Given the description of an element on the screen output the (x, y) to click on. 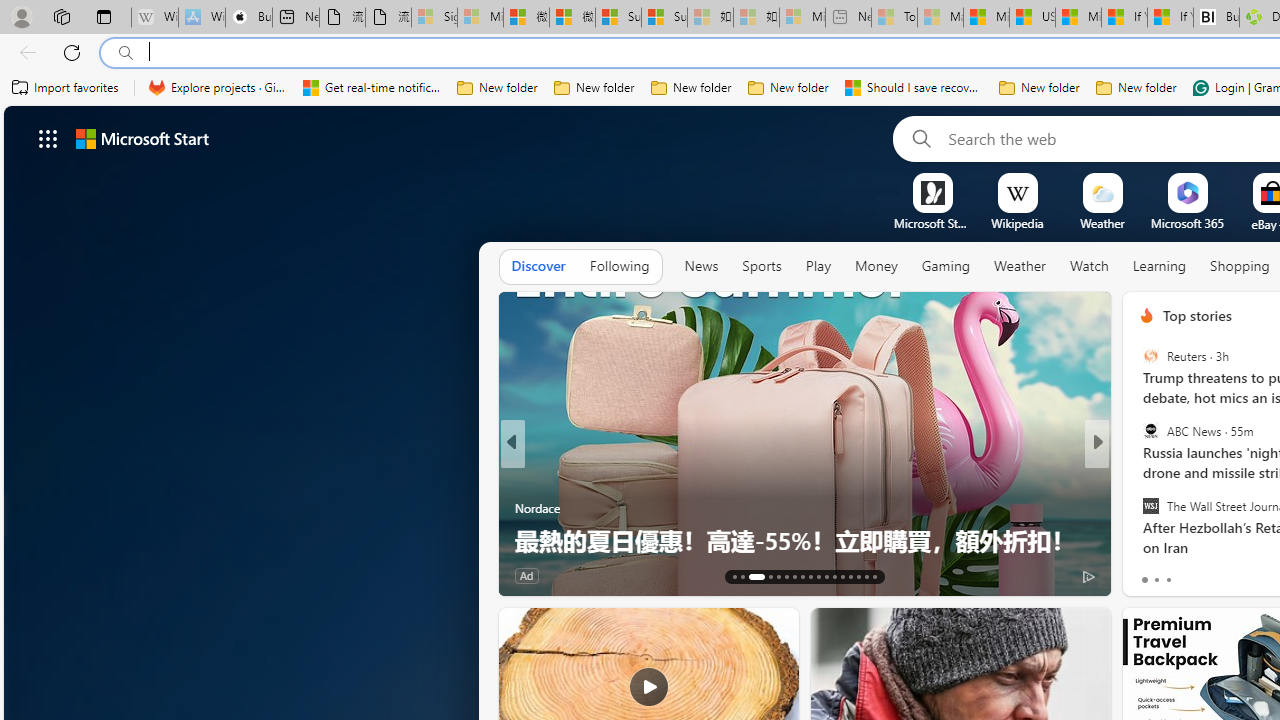
AutomationID: tab-14 (742, 576)
View comments 2 Comment (1229, 575)
Should I save recovered Word documents? - Microsoft Support (913, 88)
Food Republic (1138, 475)
Learning (1159, 265)
Class: control (47, 138)
Deseret News (1138, 507)
View comments 55 Comment (1244, 574)
245 Like (1151, 574)
215 Like (535, 574)
Top stories (1196, 315)
AutomationID: waffle (47, 138)
Play (817, 265)
